Given the description of an element on the screen output the (x, y) to click on. 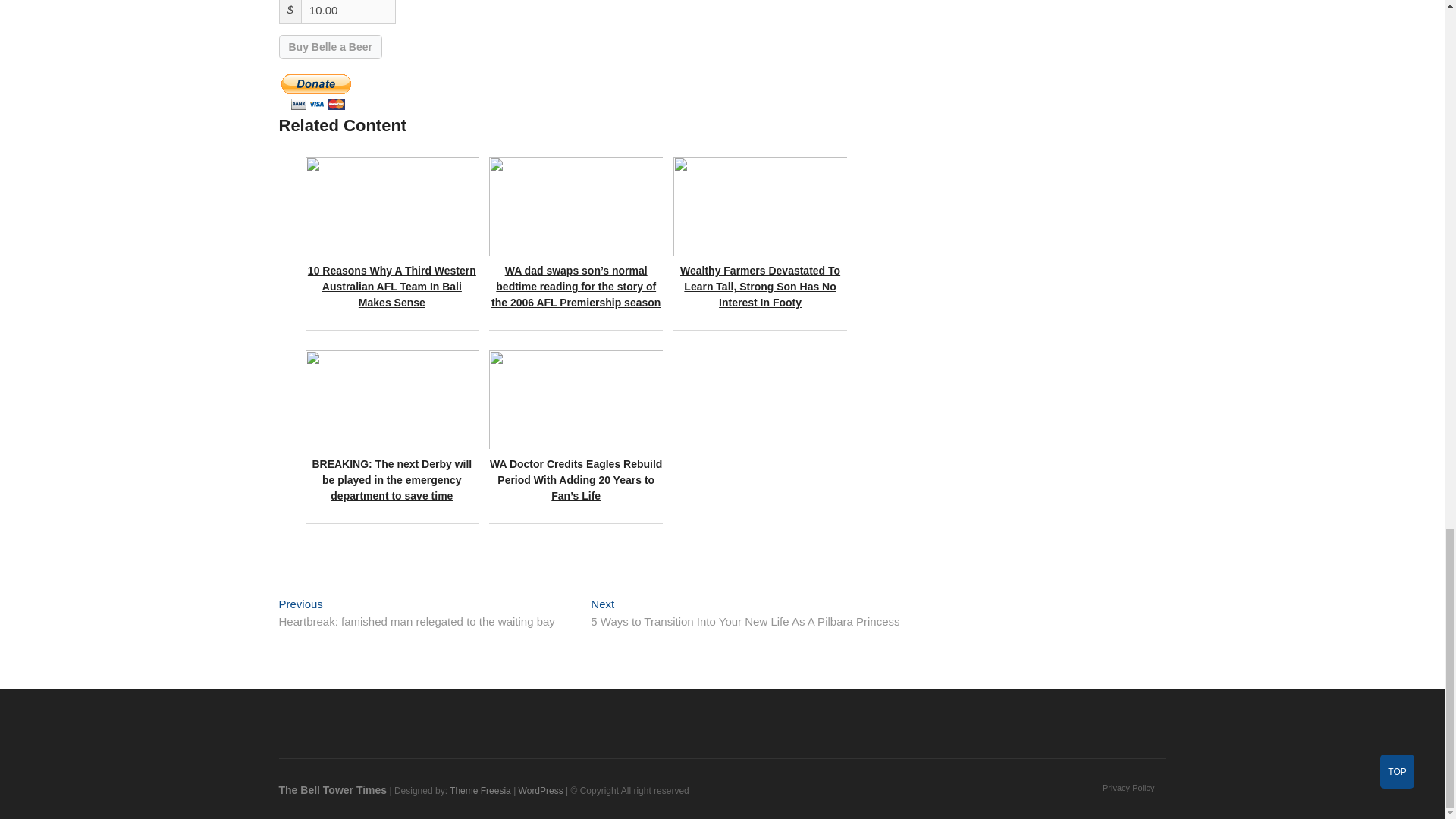
10.00 (348, 11)
